Given the description of an element on the screen output the (x, y) to click on. 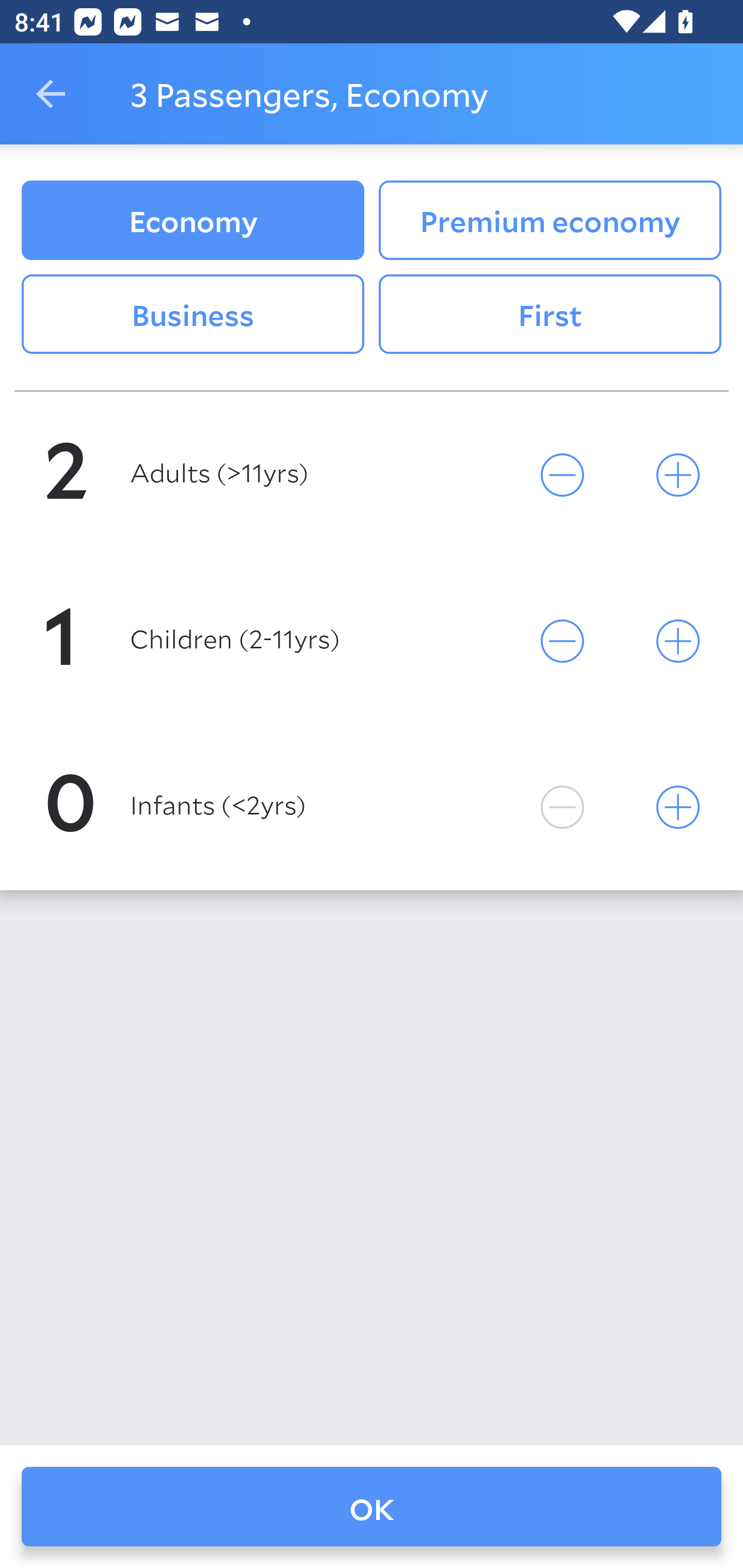
Navigate up (50, 93)
Economy (192, 220)
Premium economy (549, 220)
Business (192, 314)
First (549, 314)
OK (371, 1506)
